Given the description of an element on the screen output the (x, y) to click on. 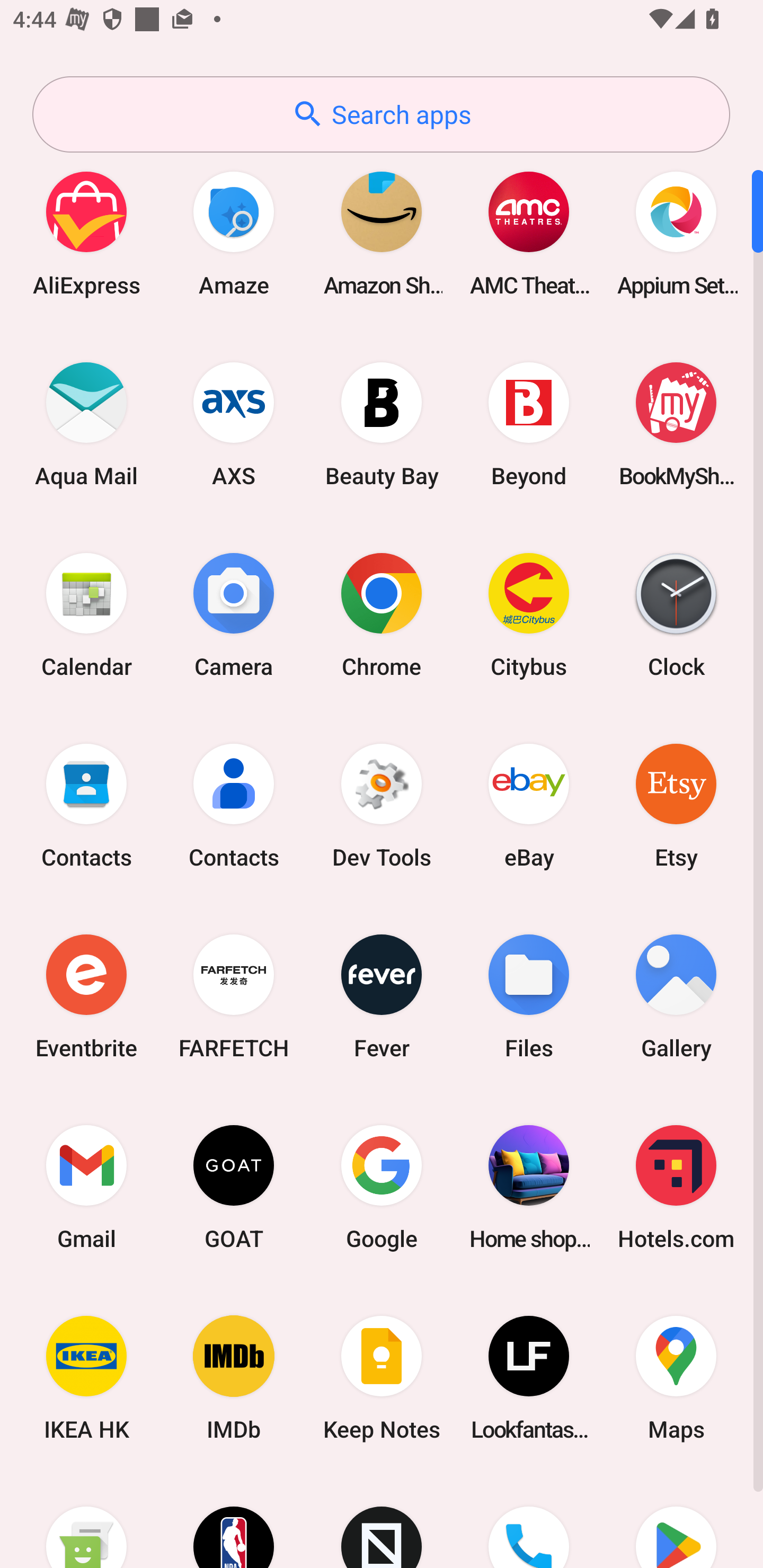
  Search apps (381, 114)
AliExpress (86, 233)
Amaze (233, 233)
Amazon Shopping (381, 233)
AMC Theatres (528, 233)
Appium Settings (676, 233)
Aqua Mail (86, 424)
AXS (233, 424)
Beauty Bay (381, 424)
Beyond (528, 424)
BookMyShow (676, 424)
Calendar (86, 614)
Camera (233, 614)
Chrome (381, 614)
Citybus (528, 614)
Clock (676, 614)
Contacts (86, 805)
Contacts (233, 805)
Dev Tools (381, 805)
eBay (528, 805)
Etsy (676, 805)
Eventbrite (86, 996)
FARFETCH (233, 996)
Fever (381, 996)
Files (528, 996)
Gallery (676, 996)
Gmail (86, 1186)
GOAT (233, 1186)
Google (381, 1186)
Home shopping (528, 1186)
Hotels.com (676, 1186)
IKEA HK (86, 1377)
IMDb (233, 1377)
Keep Notes (381, 1377)
Lookfantastic (528, 1377)
Maps (676, 1377)
